Given the description of an element on the screen output the (x, y) to click on. 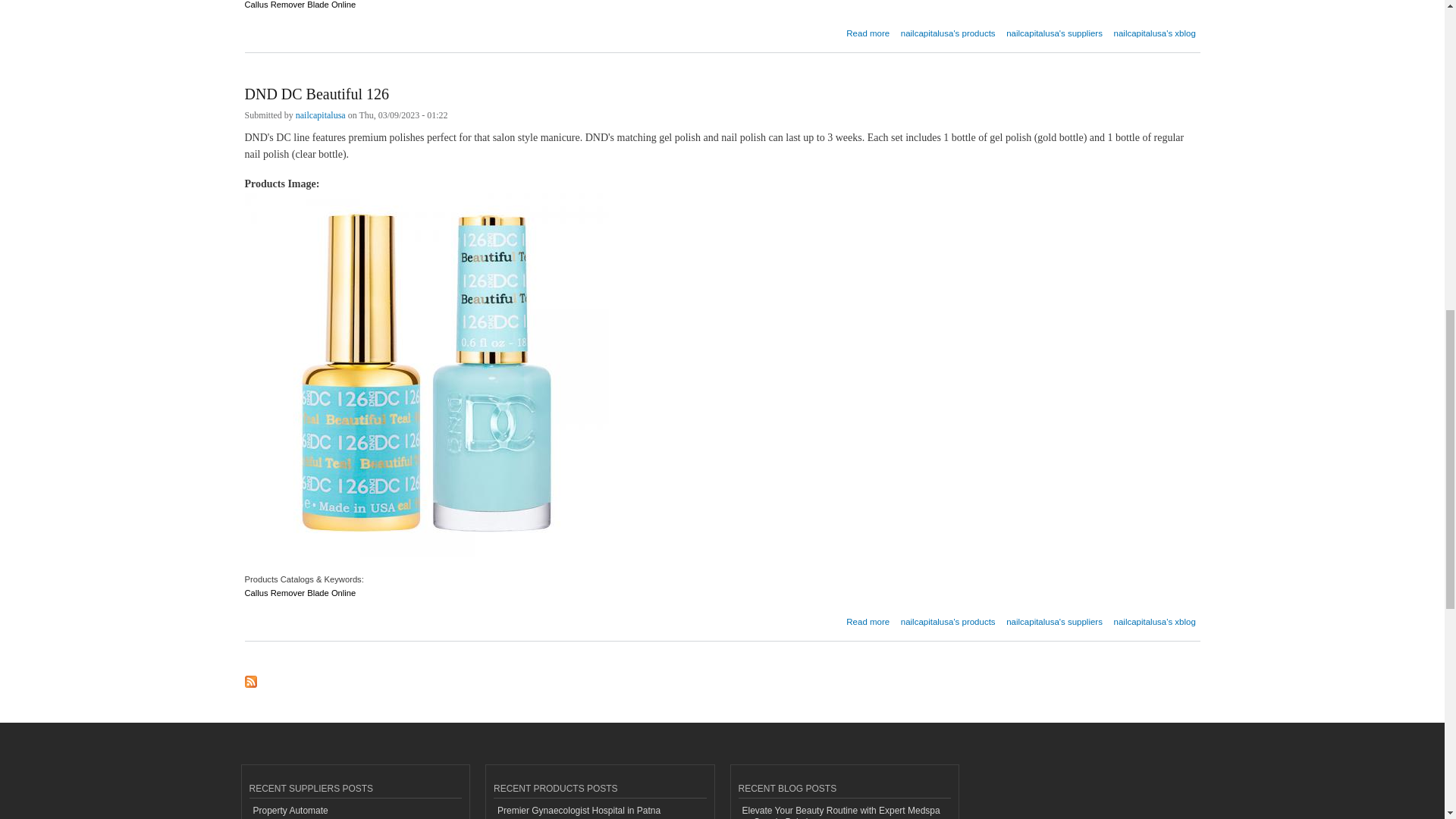
nailcapitalusa's suppliers (1054, 28)
nailcapitalusa's suppliers (1054, 616)
DND DC Beautiful 126 (867, 616)
Read nailcapitalusa's latest suppliers entries. (1054, 28)
Read nailcapitalusa's latest xblog entries. (1154, 616)
View user profile. (320, 116)
Read nailcapitalusa's latest suppliers entries. (1054, 616)
Callus Remover Blade Online (299, 598)
nailcapitalusa's xblog (1154, 28)
Callus Remover Blade Online (299, 12)
